Given the description of an element on the screen output the (x, y) to click on. 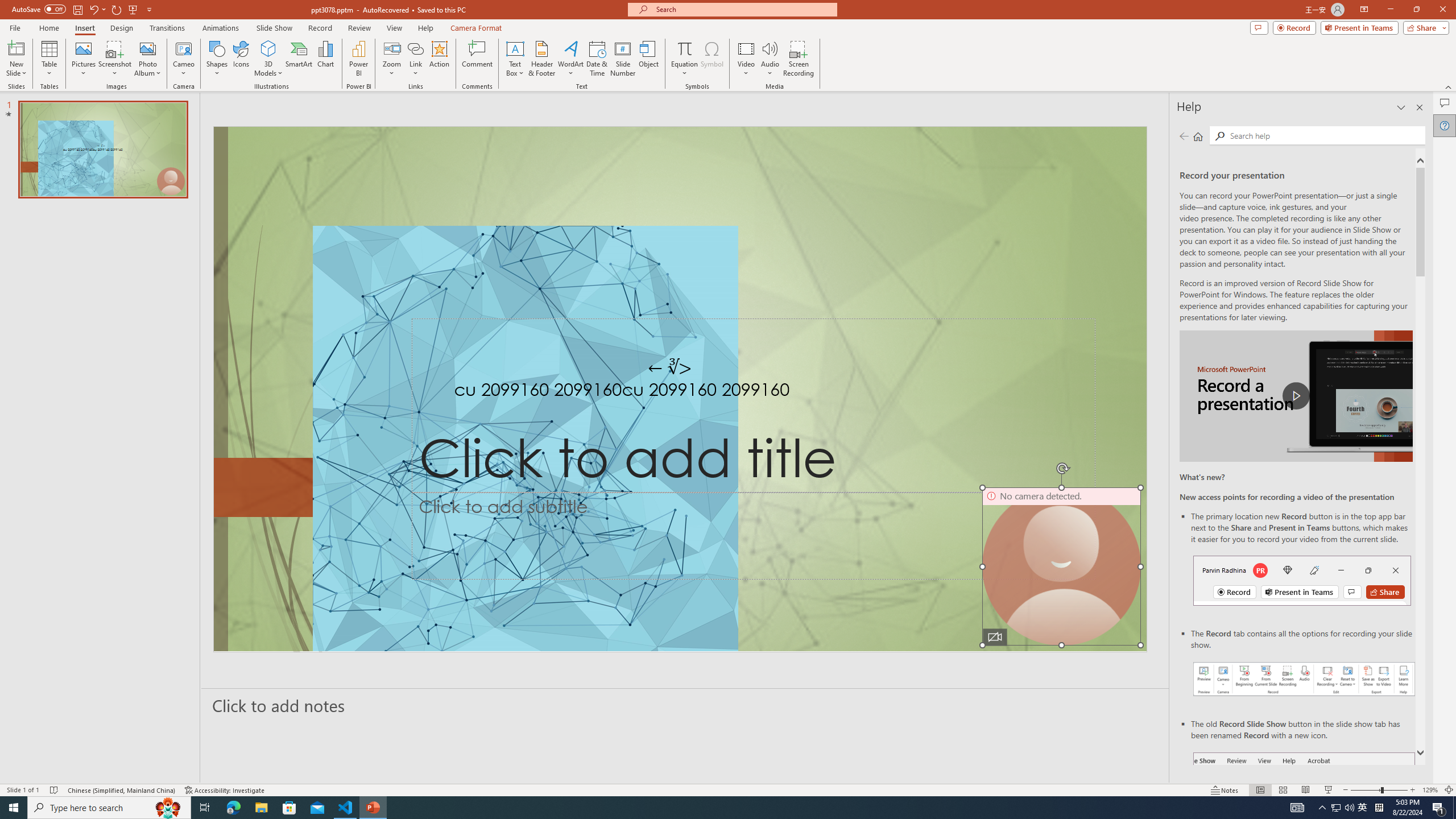
Object... (649, 58)
An abstract genetic concept (680, 388)
3D Models (268, 58)
Power BI (358, 58)
TextBox 7 (670, 367)
Video (745, 58)
